Given the description of an element on the screen output the (x, y) to click on. 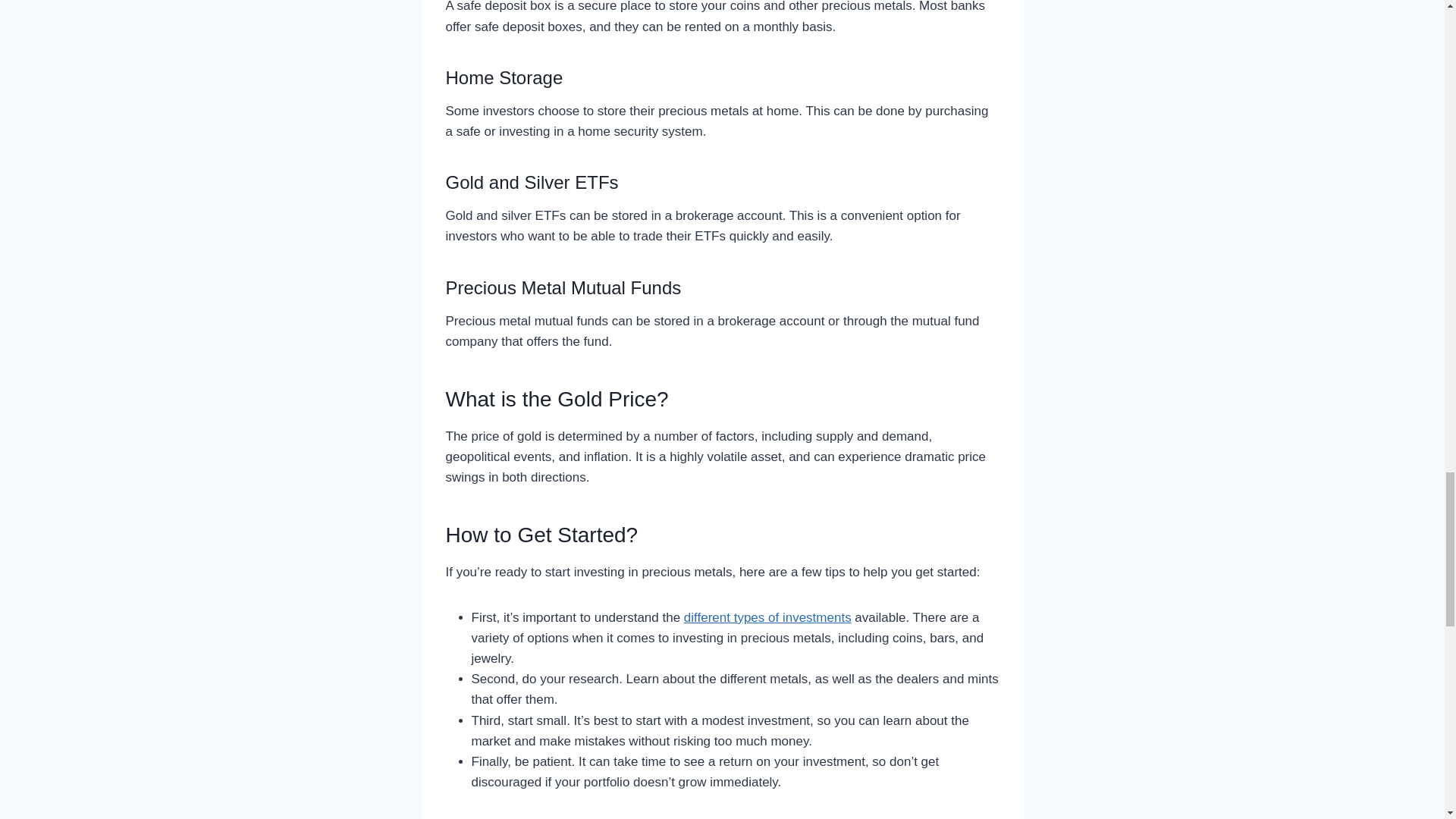
different types of investments (767, 617)
different types of investments (767, 617)
